Given the description of an element on the screen output the (x, y) to click on. 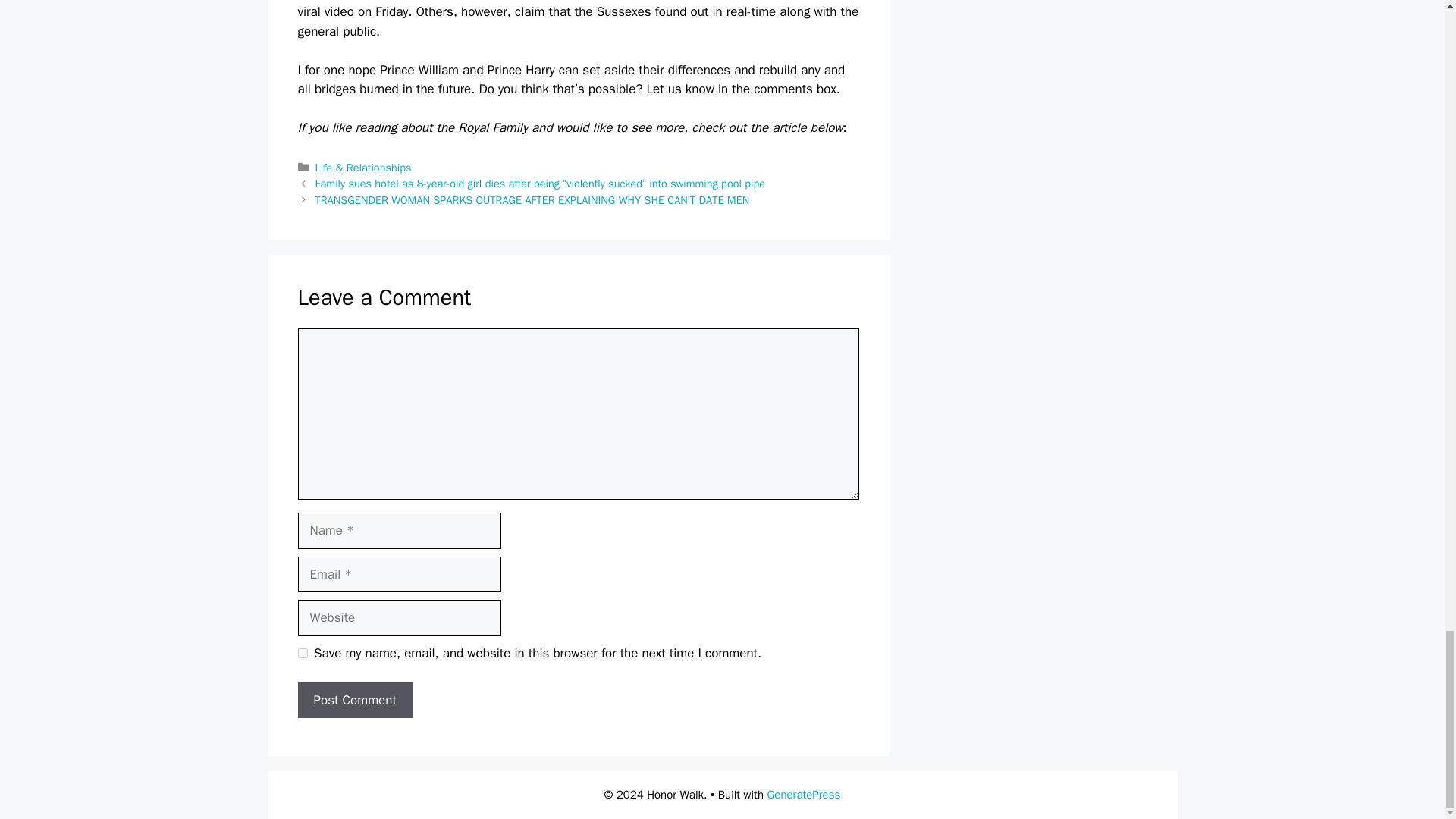
Post Comment (354, 700)
Post Comment (354, 700)
GeneratePress (803, 794)
yes (302, 653)
